Given the description of an element on the screen output the (x, y) to click on. 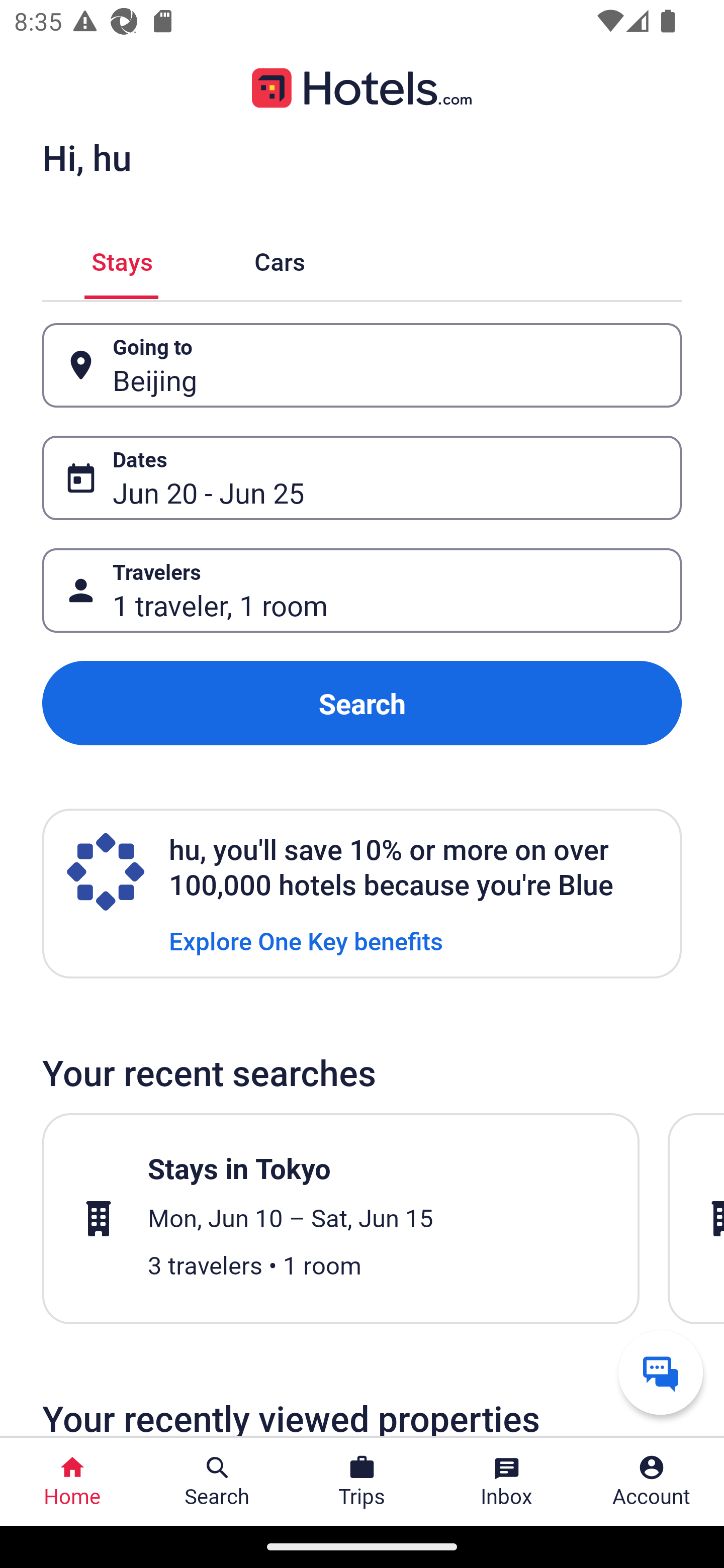
Hi, hu (86, 156)
Cars (279, 259)
Going to Button Beijing (361, 365)
Dates Button Jun 20 - Jun 25 (361, 477)
Travelers Button 1 traveler, 1 room (361, 590)
Search (361, 702)
Get help from a virtual agent (660, 1371)
Search Search Button (216, 1481)
Trips Trips Button (361, 1481)
Inbox Inbox Button (506, 1481)
Account Profile. Button (651, 1481)
